Given the description of an element on the screen output the (x, y) to click on. 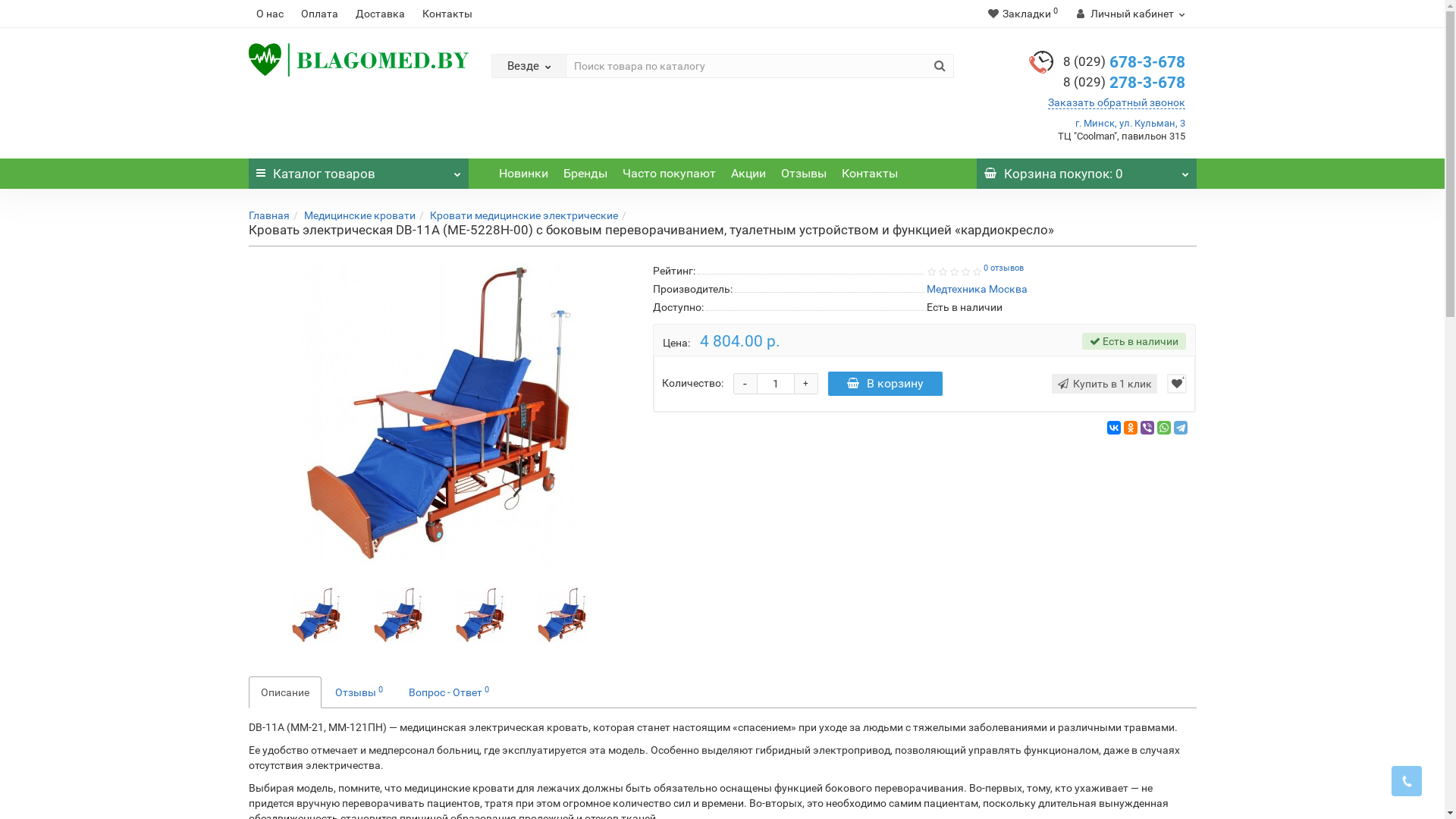
8 (029) 278-3-678 Element type: text (1124, 82)
- Element type: text (745, 383)
WhatsApp Element type: hover (1163, 427)
8 (029) 678-3-678 Element type: text (1124, 62)
Telegram Element type: hover (1180, 427)
Viber Element type: hover (1147, 427)
+ Element type: text (805, 383)
